Given the description of an element on the screen output the (x, y) to click on. 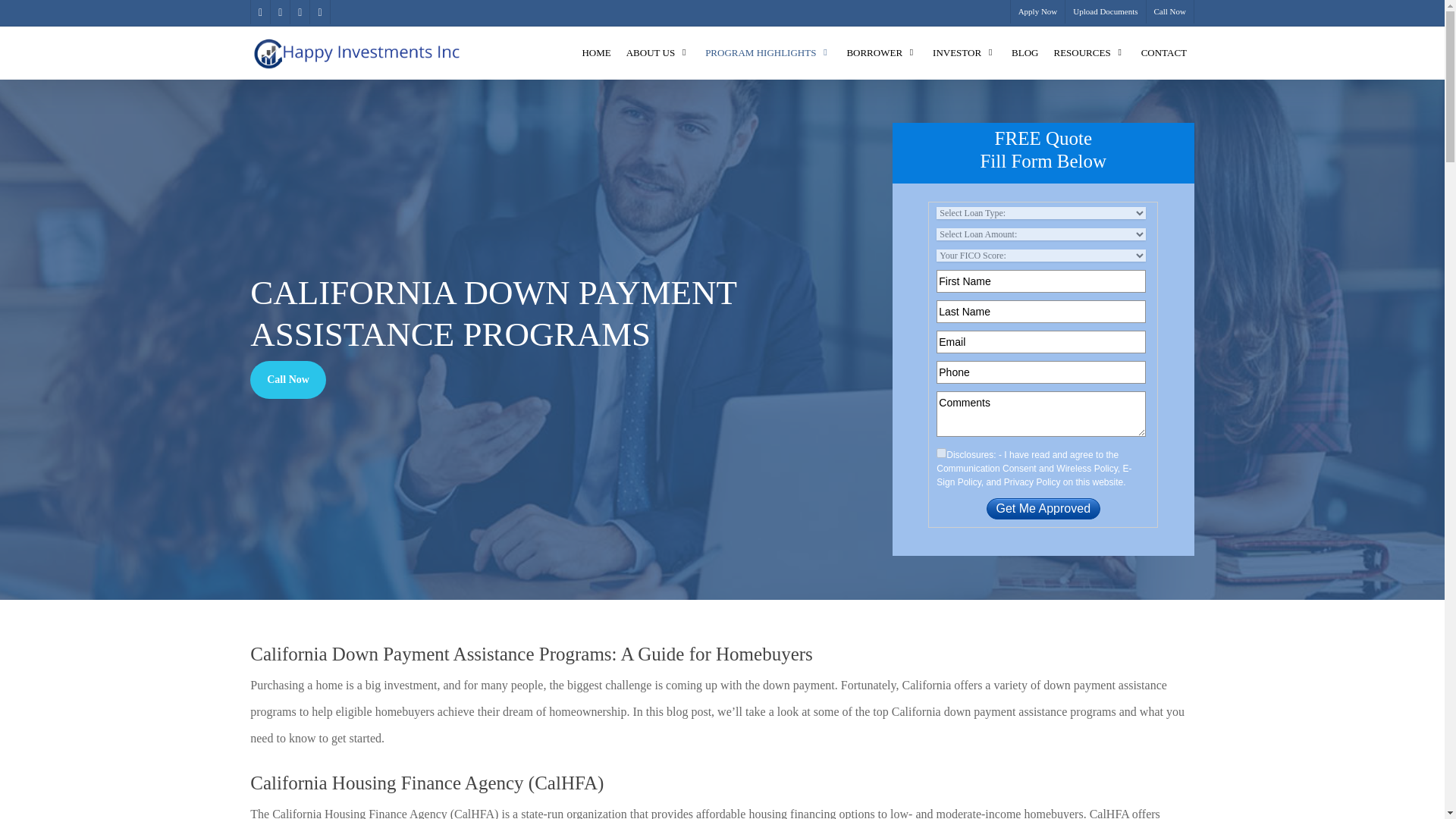
Call Now (1169, 11)
Apply Now (1037, 11)
PROGRAM HIGHLIGHTS (767, 52)
Get Me Approved (1043, 508)
First Name (1040, 281)
HOME (595, 52)
Last Name (1040, 311)
Email (1040, 341)
Upload Documents (1104, 11)
Phone (1040, 372)
